Given the description of an element on the screen output the (x, y) to click on. 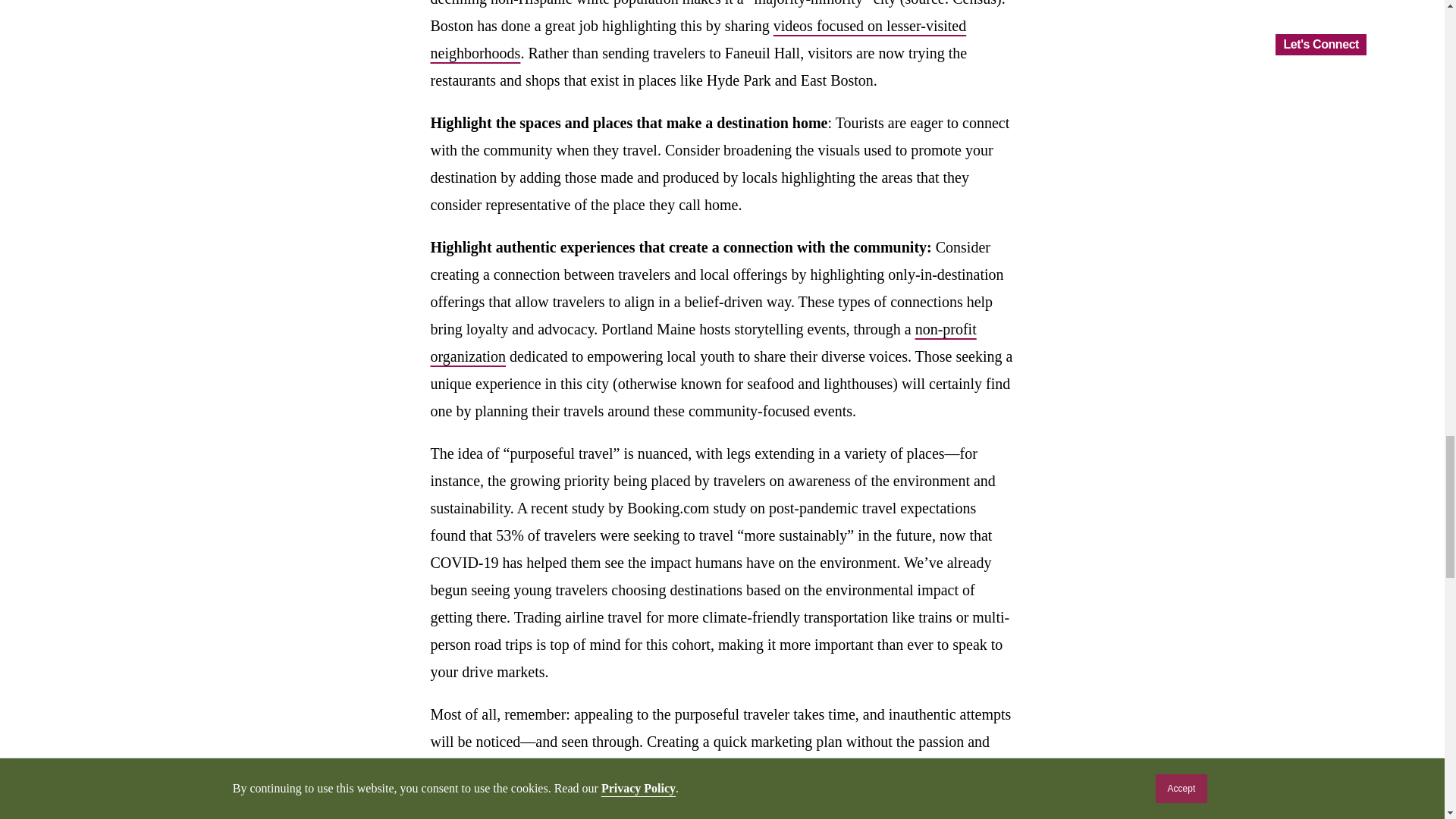
non-profit organization (703, 342)
videos focused on lesser-visited neighborhoods (698, 39)
